Given the description of an element on the screen output the (x, y) to click on. 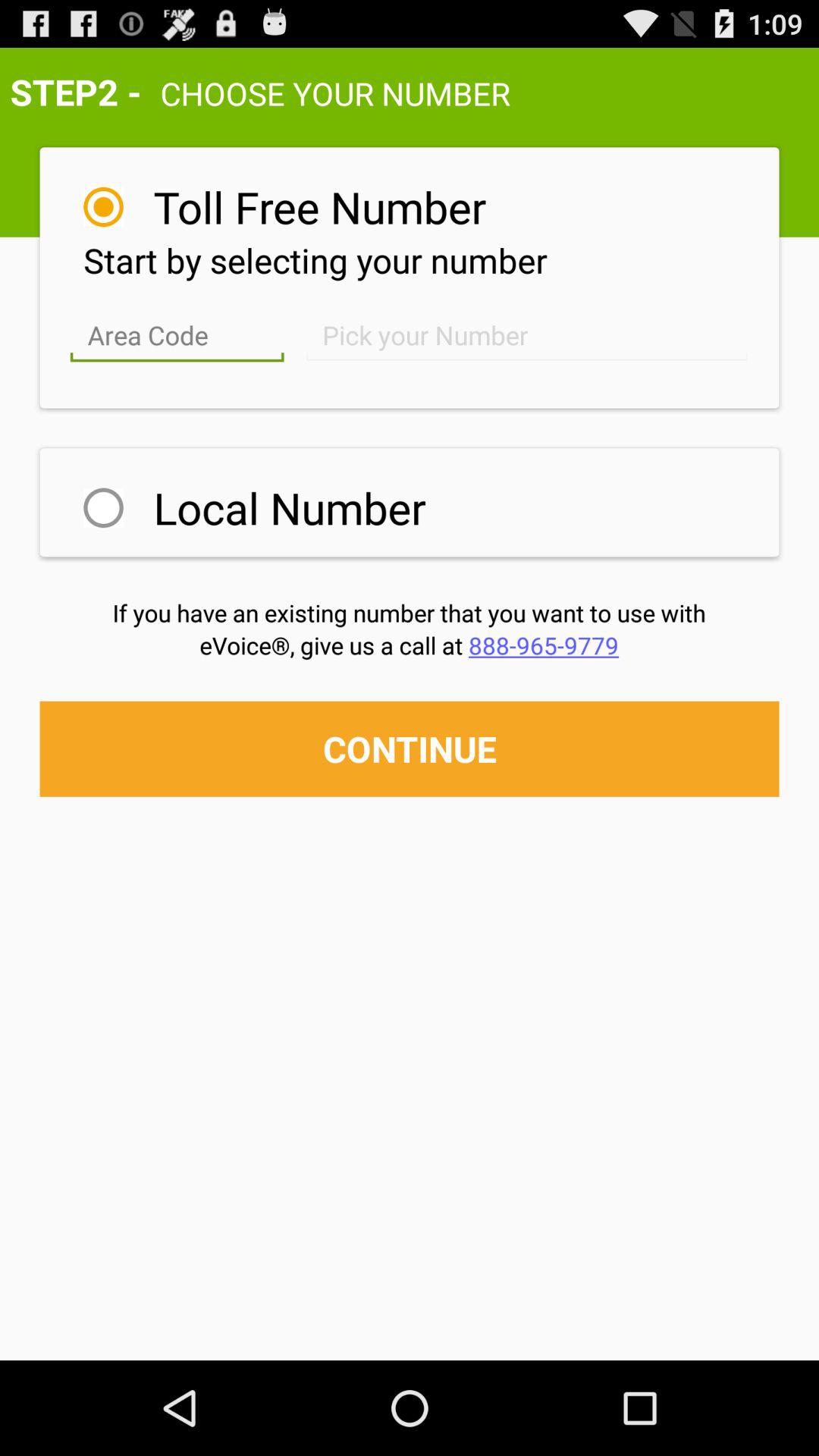
click the toll free number item (319, 206)
